Given the description of an element on the screen output the (x, y) to click on. 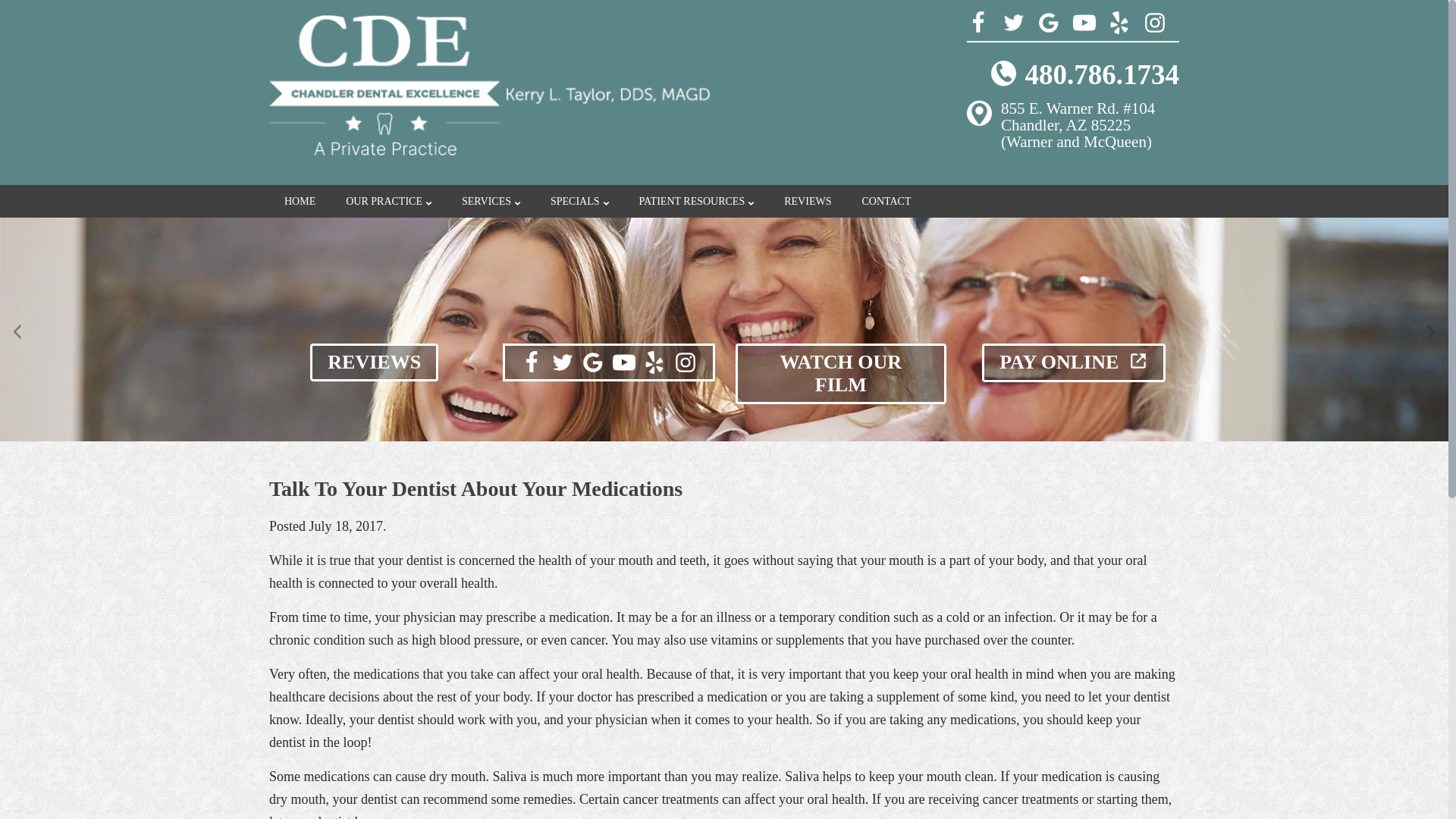
Google icon (592, 362)
Instagram icon (685, 362)
Twitter icon (562, 362)
Yelp icon (654, 362)
Instagram icon (1154, 22)
YouTube icon (1082, 22)
YouTube icon (623, 362)
Yelp icon (1119, 22)
Google icon (1047, 22)
Twitter icon (1014, 22)
Facebook icon (531, 362)
Facebook icon (978, 22)
